Given the description of an element on the screen output the (x, y) to click on. 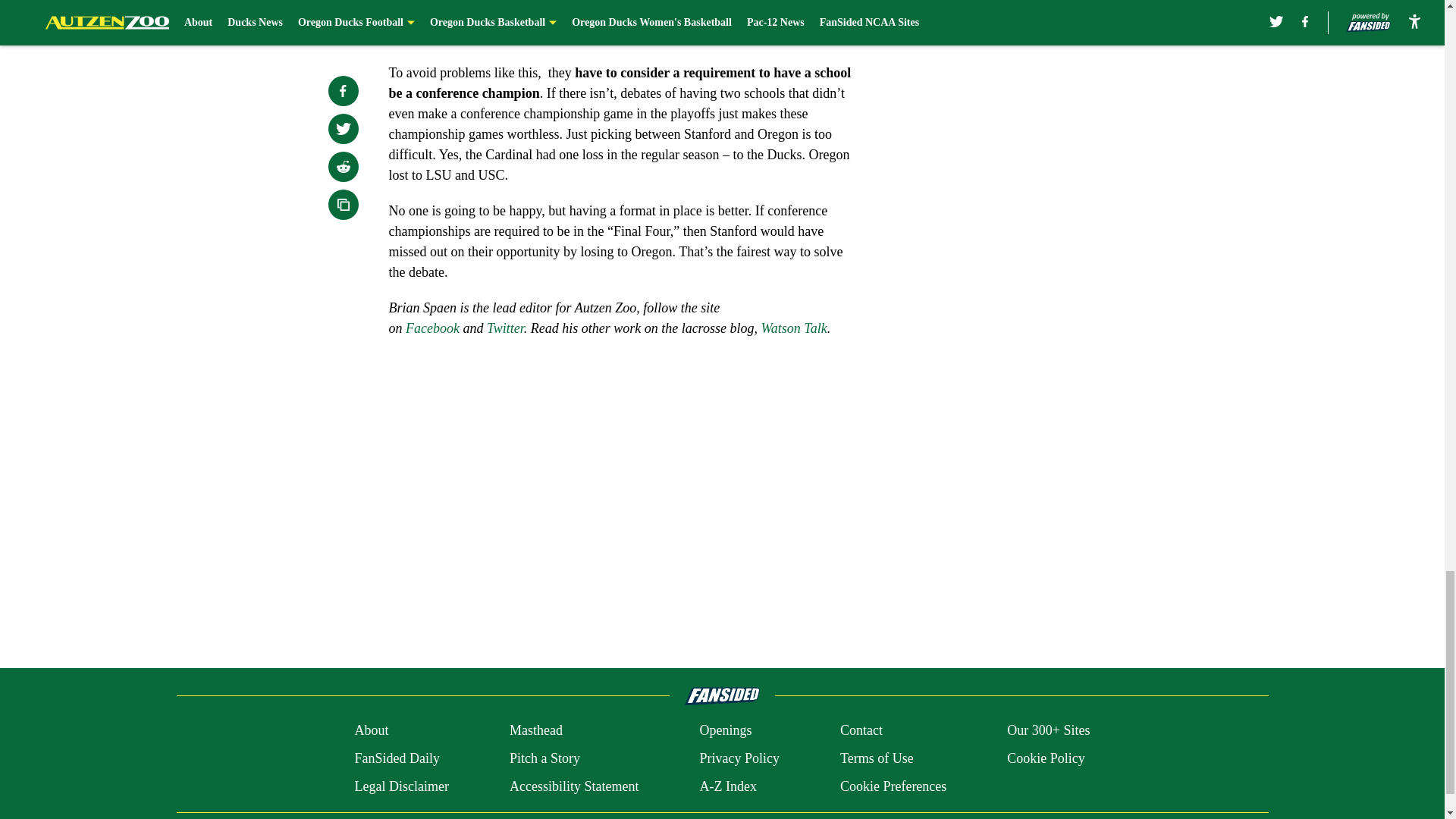
Twitter (505, 328)
Cookie Policy (1045, 758)
About (370, 730)
Contact (861, 730)
Masthead (535, 730)
Privacy Policy (738, 758)
Pitch a Story (544, 758)
Terms of Use (877, 758)
Openings (724, 730)
Watson Talk (793, 328)
FanSided Daily (396, 758)
Facebook (433, 328)
Legal Disclaimer (400, 786)
